Given the description of an element on the screen output the (x, y) to click on. 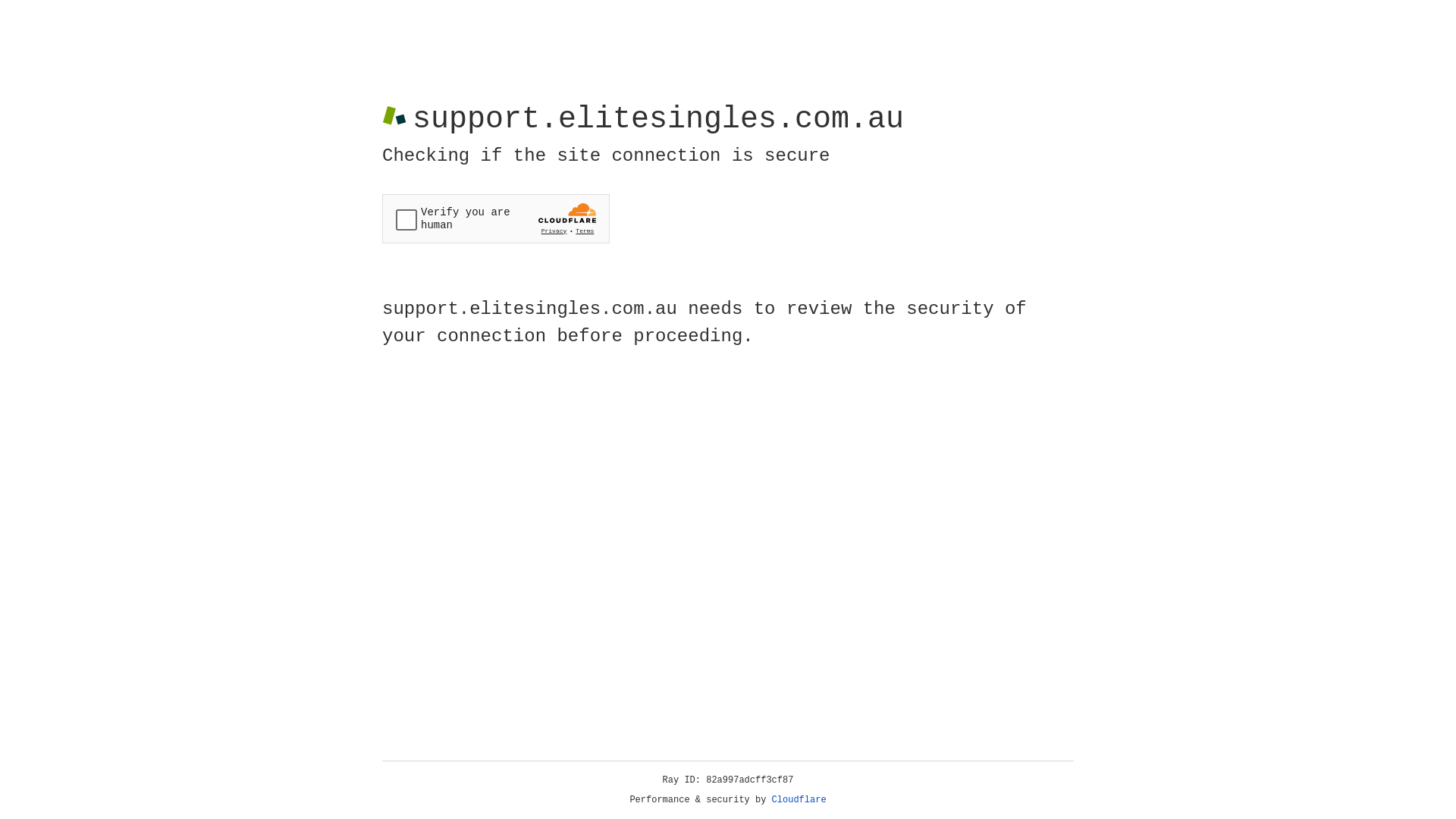
Cloudflare Element type: text (798, 799)
Widget containing a Cloudflare security challenge Element type: hover (495, 218)
